Given the description of an element on the screen output the (x, y) to click on. 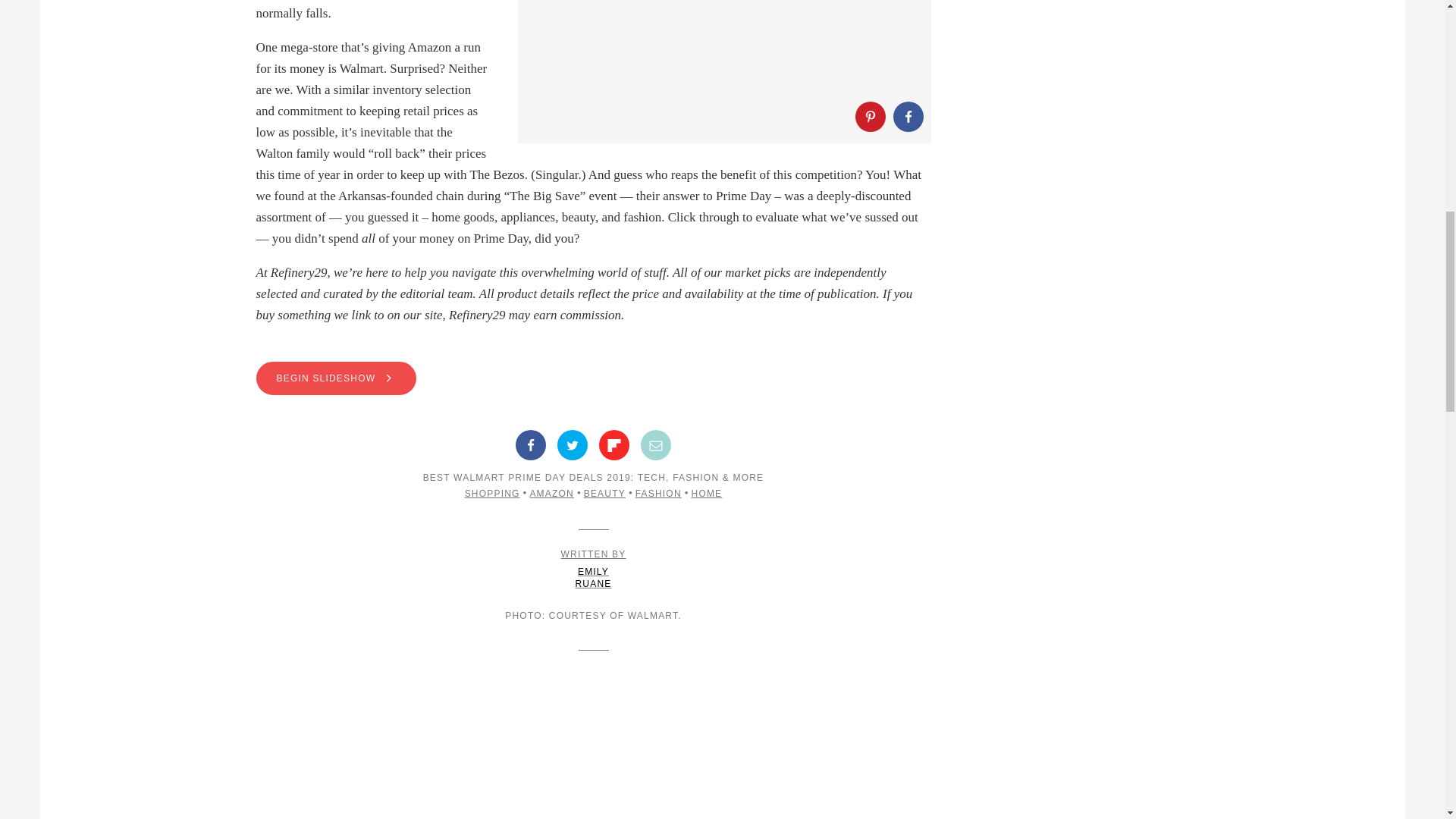
BEAUTY (604, 493)
FASHION (657, 493)
Share by Email (655, 444)
SHOPPING (491, 493)
HOME (706, 493)
BEGIN SLIDESHOW (336, 377)
BEGIN SLIDESHOW (593, 377)
Share on Twitter (572, 444)
Share on Flipboard (613, 444)
Share on Pinterest (870, 116)
